Given the description of an element on the screen output the (x, y) to click on. 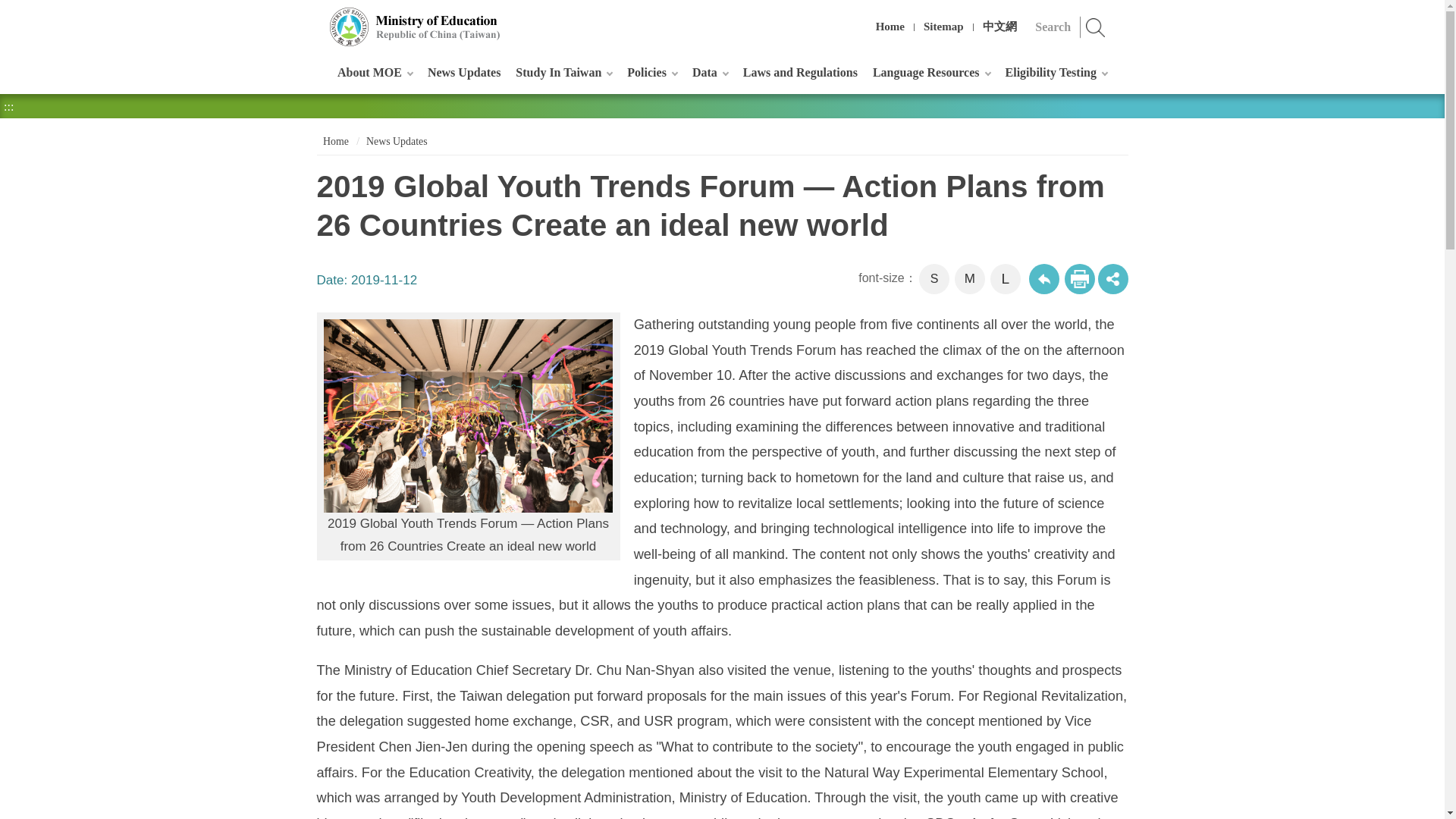
Home (890, 26)
Sitemap (943, 26)
About MOE (375, 72)
Study In Taiwan (563, 72)
Home (890, 26)
News Updates (464, 72)
About MOE (375, 72)
Sitemap (943, 26)
Study In Taiwan (563, 72)
News Updates (464, 72)
search (1096, 26)
search (1096, 26)
search (1096, 26)
Policies (651, 72)
Language Resources (930, 72)
